Given the description of an element on the screen output the (x, y) to click on. 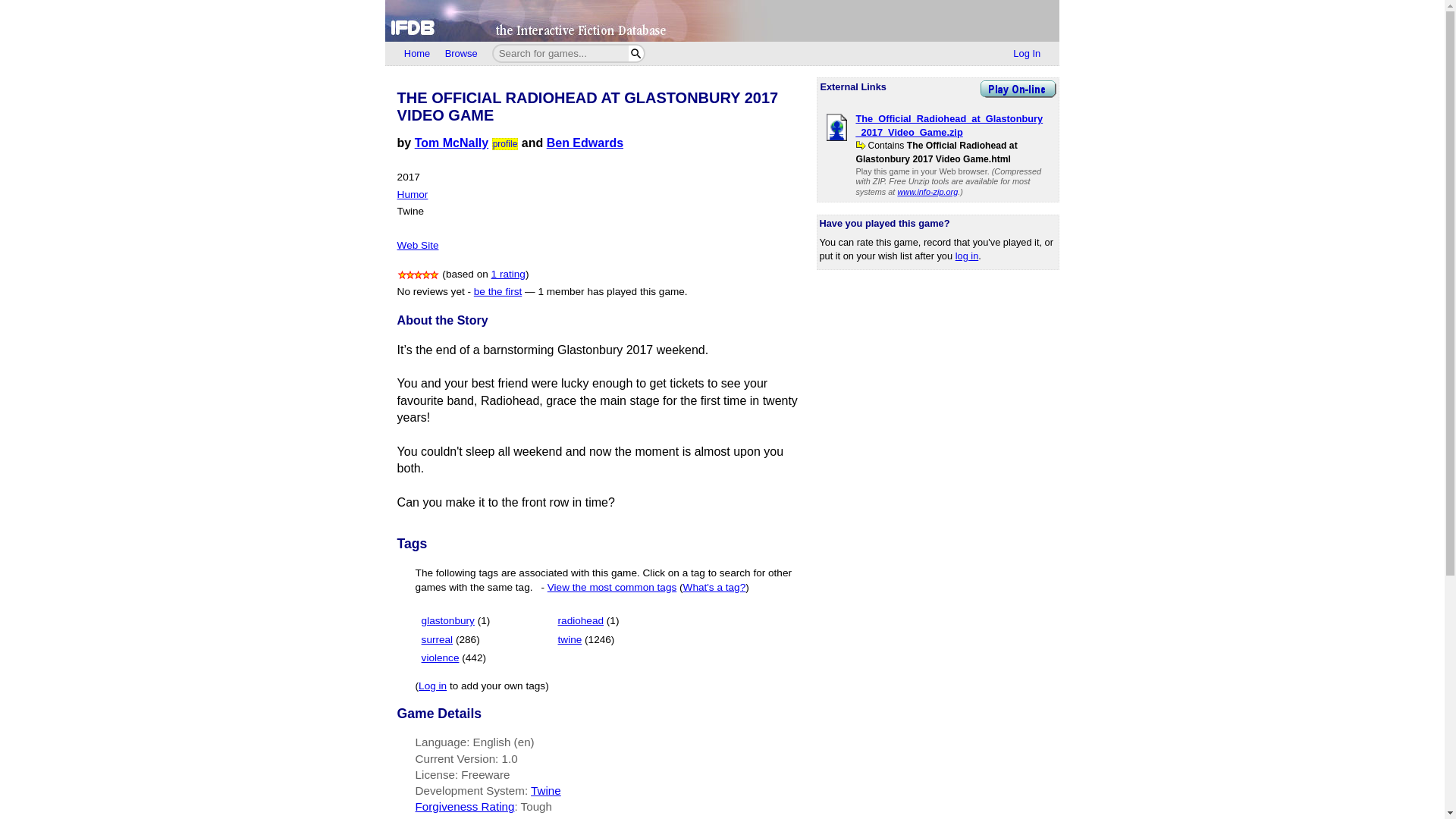
286 games have this tag (467, 639)
radiohead (580, 620)
twine (569, 639)
Humor (412, 194)
www.info-zip.org (927, 191)
1 game has this tag (483, 620)
5 Stars (418, 275)
Search for games tagged with radiohead (588, 620)
Search for games tagged with violence (454, 657)
Web Site (418, 244)
Tom McNally (451, 142)
Twine (545, 789)
Ben Edwards (585, 142)
Search for games tagged with glastonbury (456, 620)
